Given the description of an element on the screen output the (x, y) to click on. 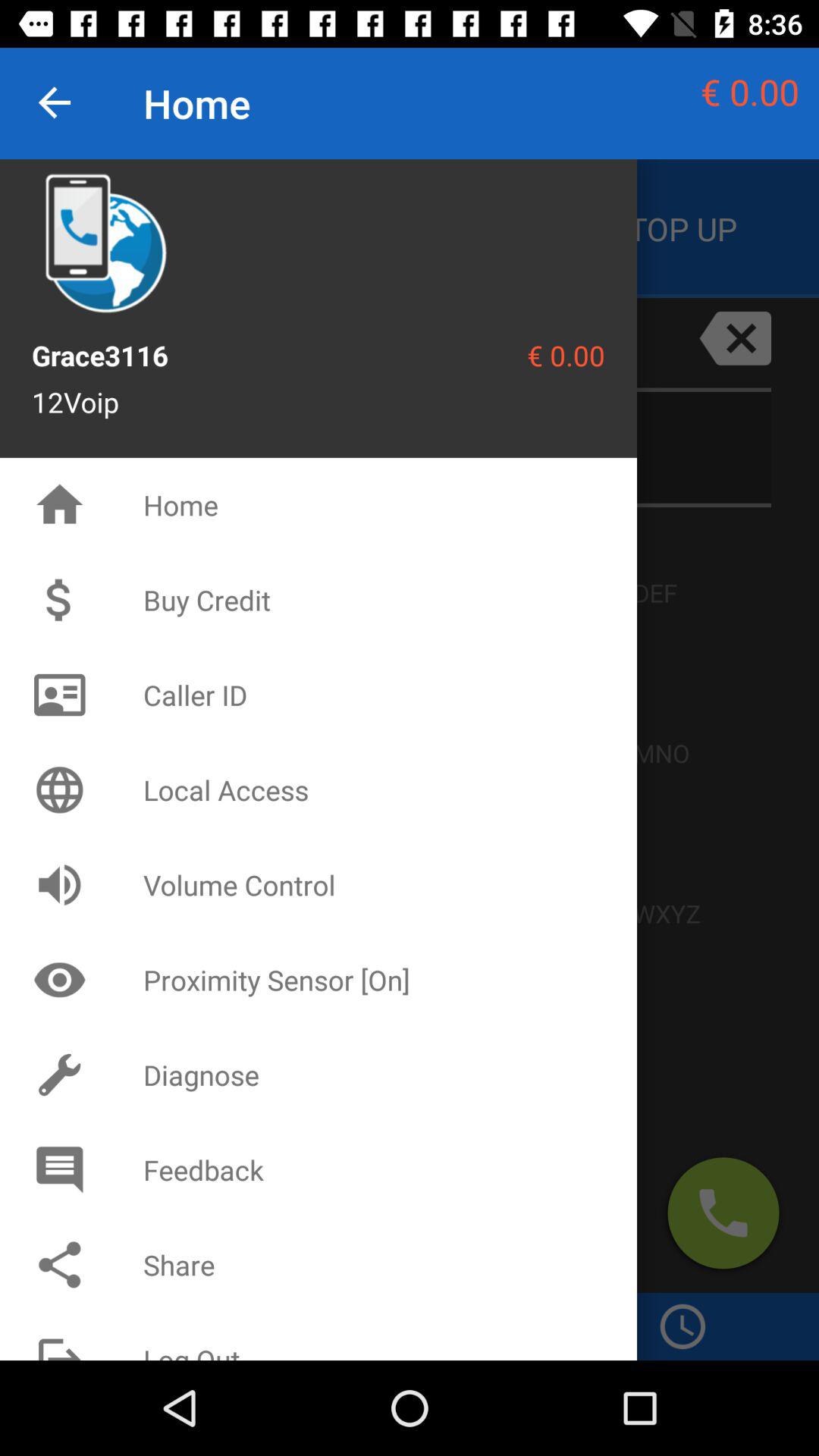
select the icon which is left side of the local access (59, 789)
